Given the description of an element on the screen output the (x, y) to click on. 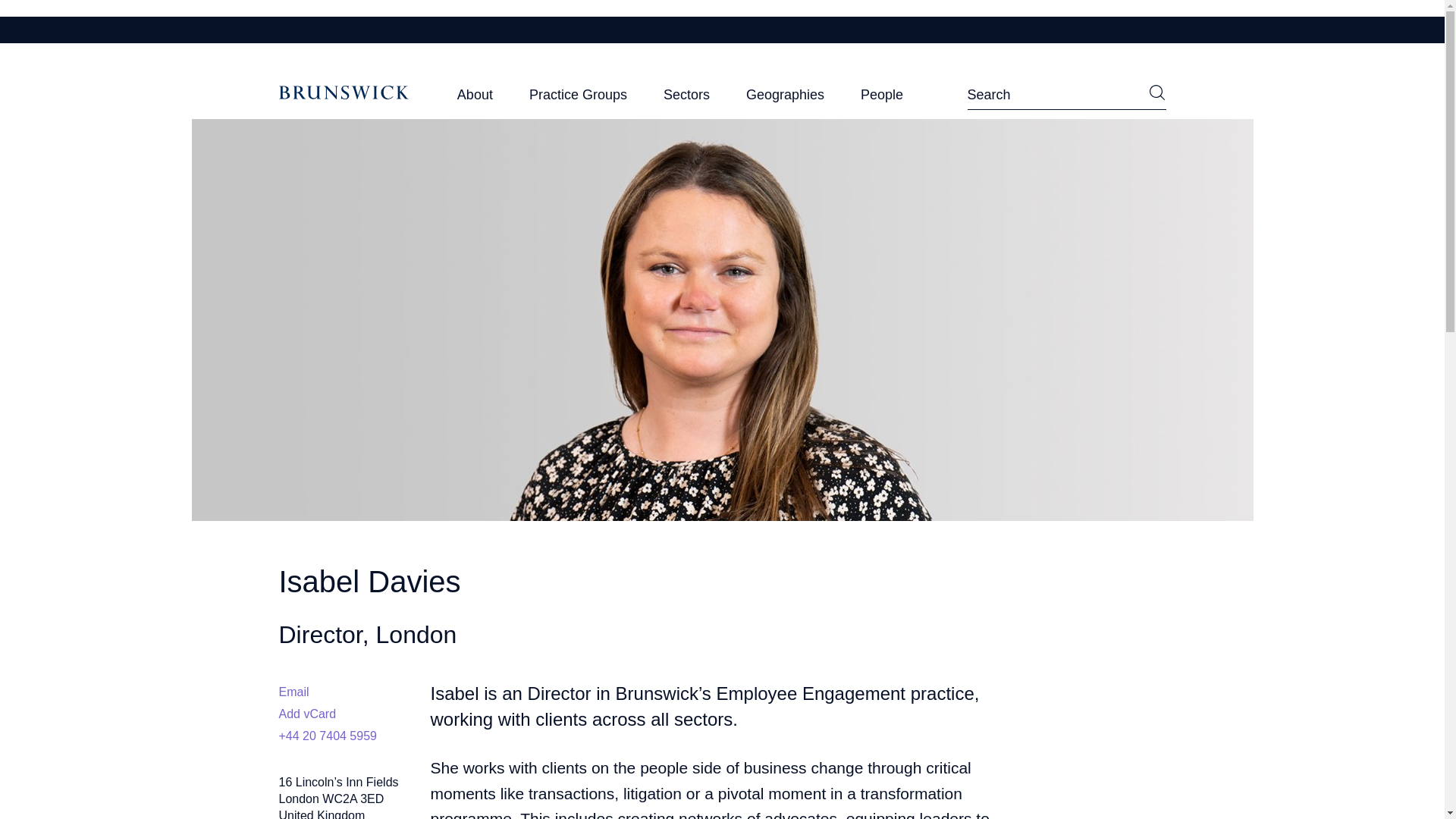
About (474, 97)
Practice Groups (577, 97)
Practice Groups (577, 97)
Sectors (686, 97)
About (474, 97)
